Given the description of an element on the screen output the (x, y) to click on. 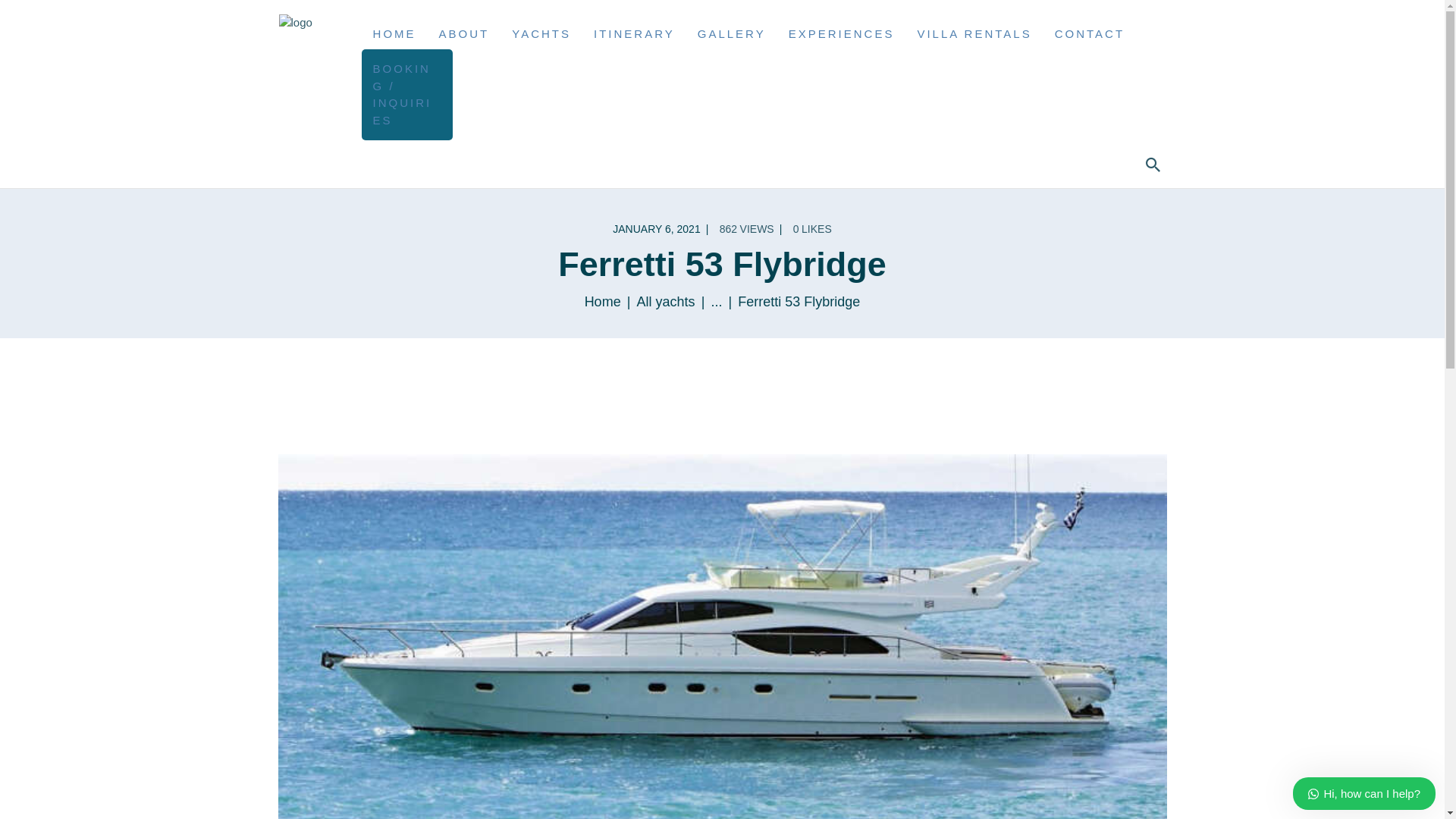
862VIEWS (751, 228)
JANUARY 6, 2021 (656, 228)
VILLA RENTALS (973, 34)
ABOUT (464, 34)
HOME (394, 34)
0LIKES (810, 228)
EXPERIENCES (841, 34)
GALLERY (731, 34)
Home (603, 301)
CONTACT (1089, 34)
